Given the description of an element on the screen output the (x, y) to click on. 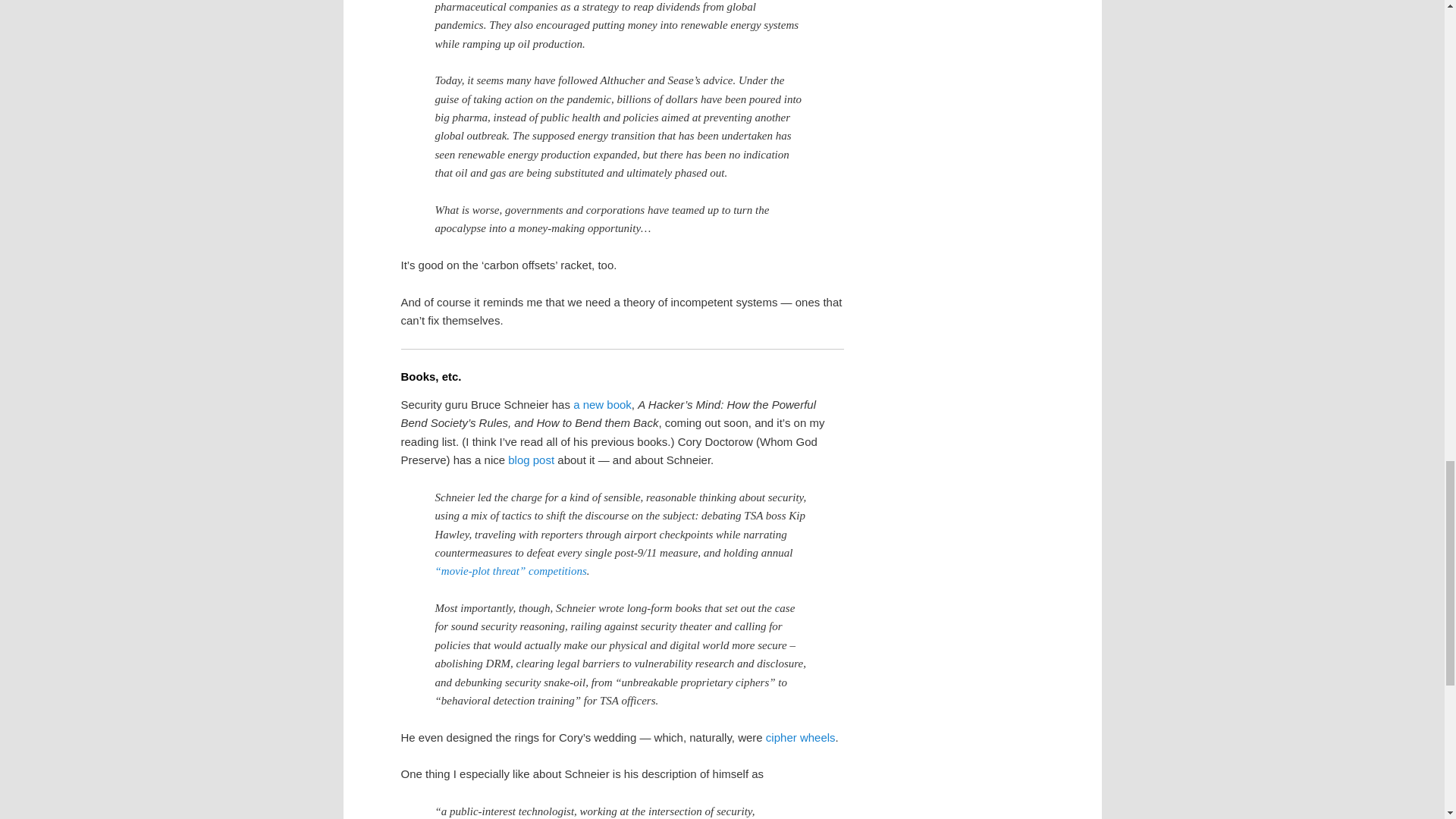
cipher wheels (800, 737)
blog post (531, 459)
a new book (602, 404)
